Given the description of an element on the screen output the (x, y) to click on. 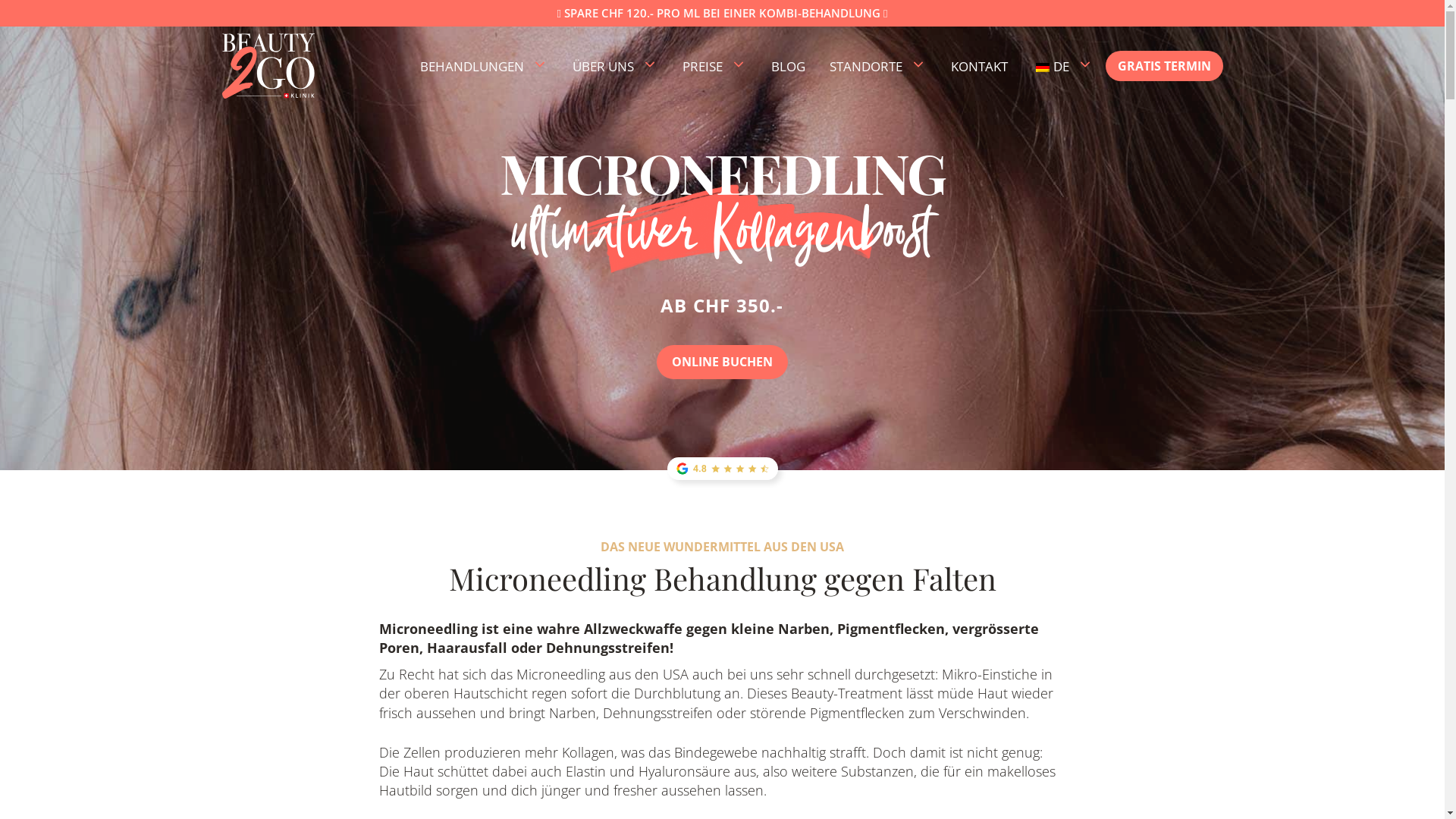
KONTAKT Element type: text (978, 65)
4.8 Element type: hover (722, 468)
STANDORTE Element type: text (877, 65)
ONLINE BUCHEN Element type: text (721, 362)
BLOG Element type: text (787, 65)
DE Element type: text (1061, 65)
GRATIS TERMIN Element type: text (1164, 65)
brush-02-1 Element type: hover (721, 228)
German Element type: hover (1042, 66)
BEHANDLUNGEN Element type: text (483, 65)
PREISE Element type: text (714, 65)
